Given the description of an element on the screen output the (x, y) to click on. 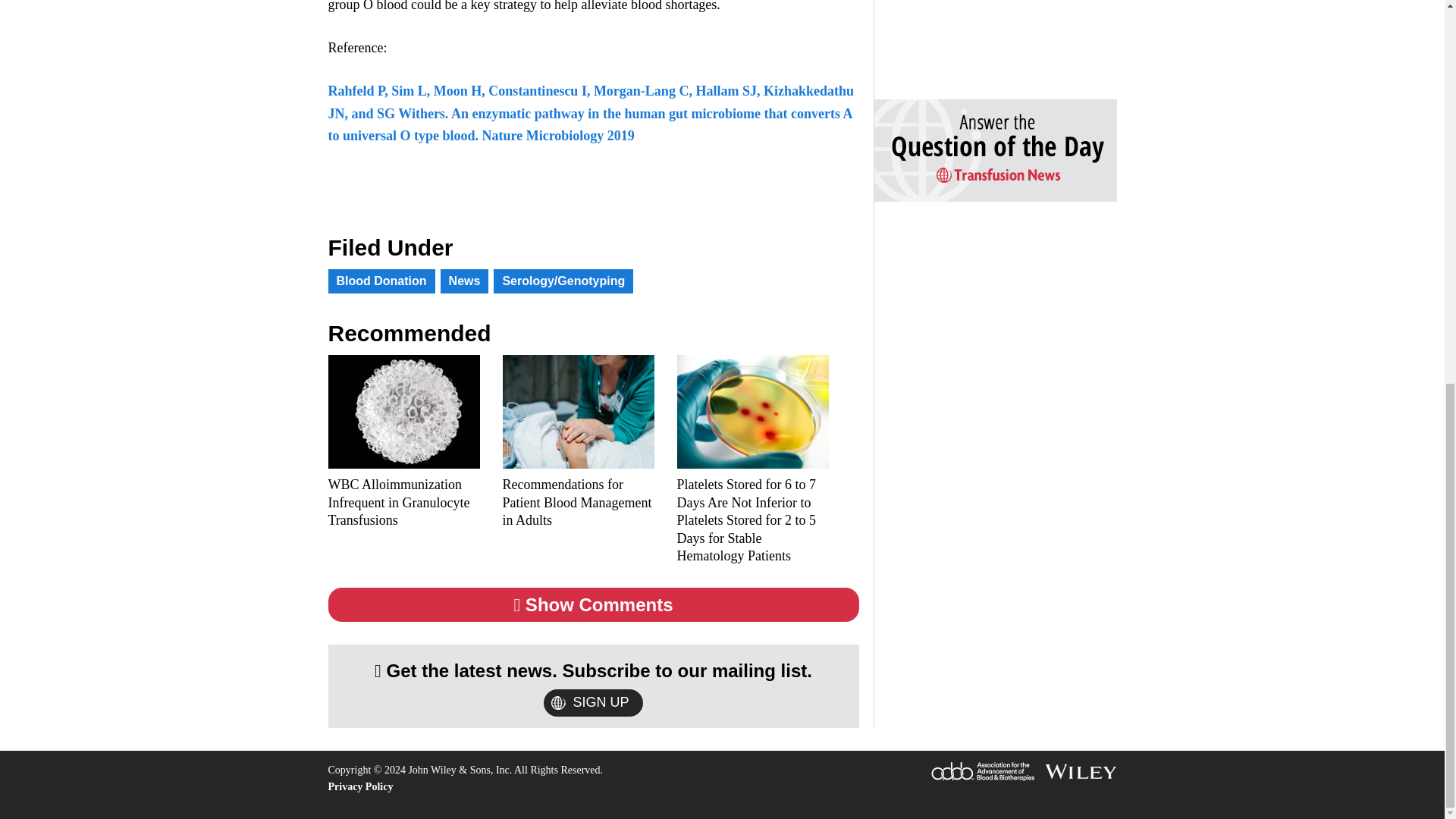
News (465, 281)
3rd party ad content (986, 36)
Recommendations for Patient Blood Management in Adults (577, 502)
Blood Donation (380, 281)
WBC Alloimmunization Infrequent in Granulocyte Transfusions (403, 502)
